Given the description of an element on the screen output the (x, y) to click on. 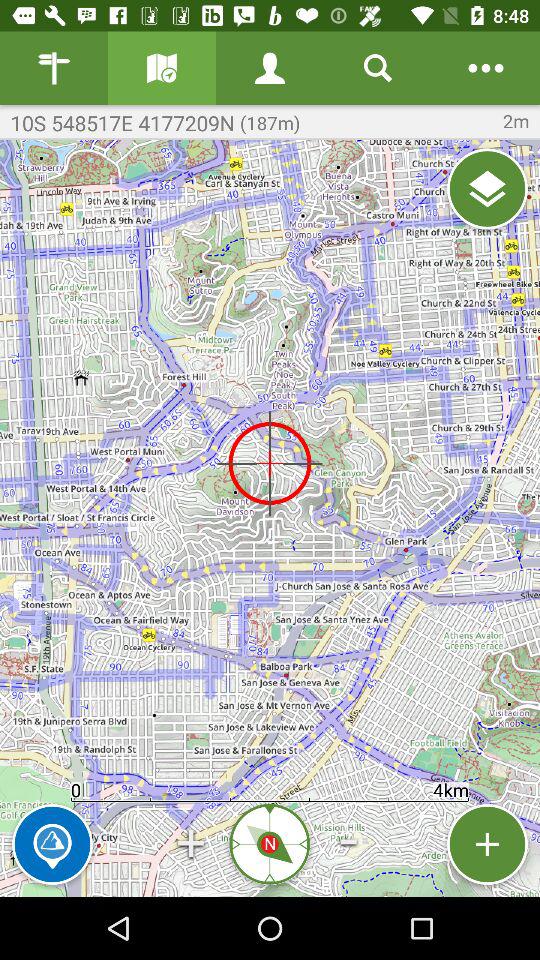
add a location (487, 844)
